Given the description of an element on the screen output the (x, y) to click on. 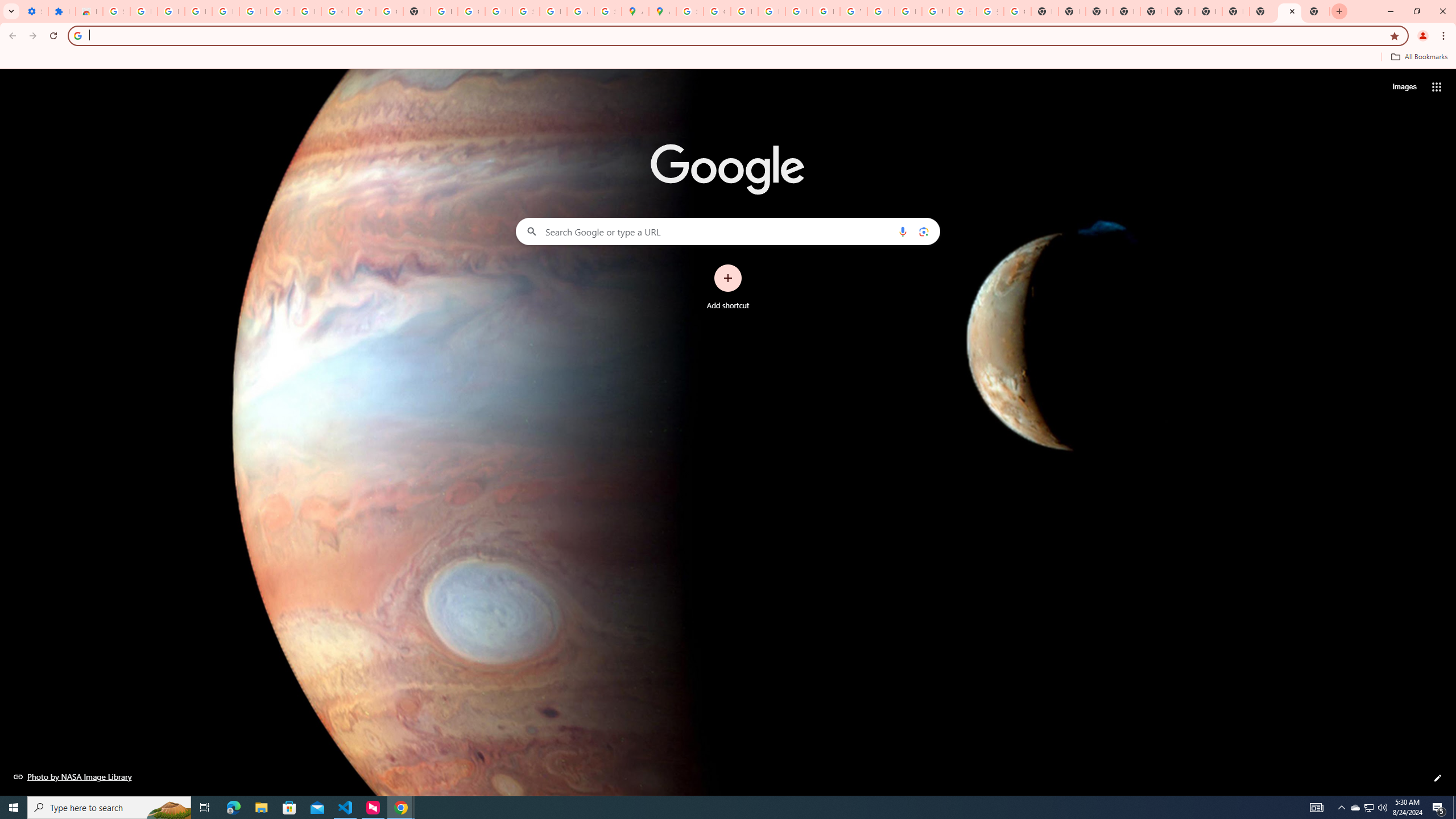
Customize this page (1437, 778)
Settings - On startup (34, 11)
New Tab (1316, 11)
